Given the description of an element on the screen output the (x, y) to click on. 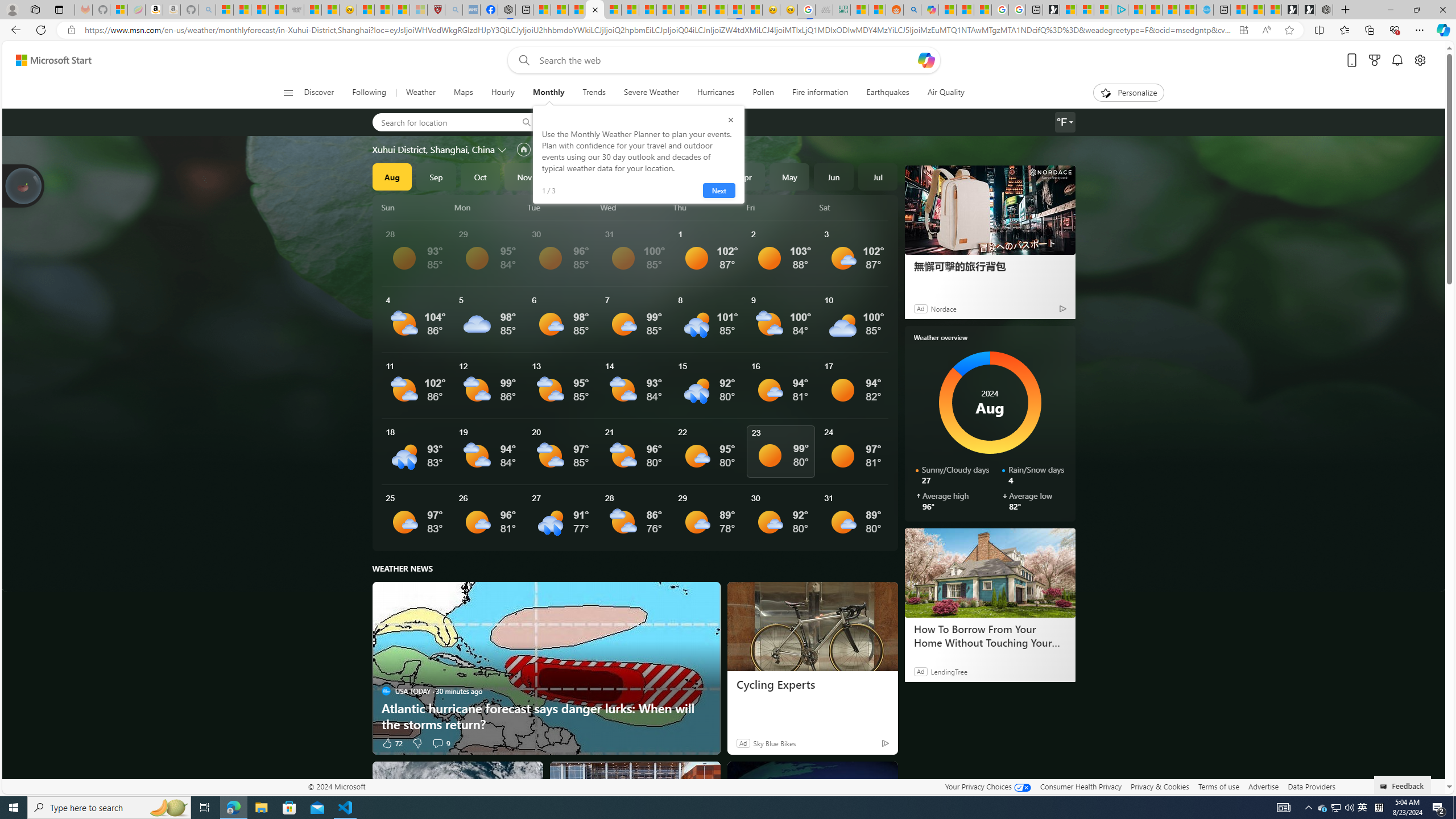
Mar (700, 176)
Nov (523, 176)
Severe Weather (651, 92)
